Given the description of an element on the screen output the (x, y) to click on. 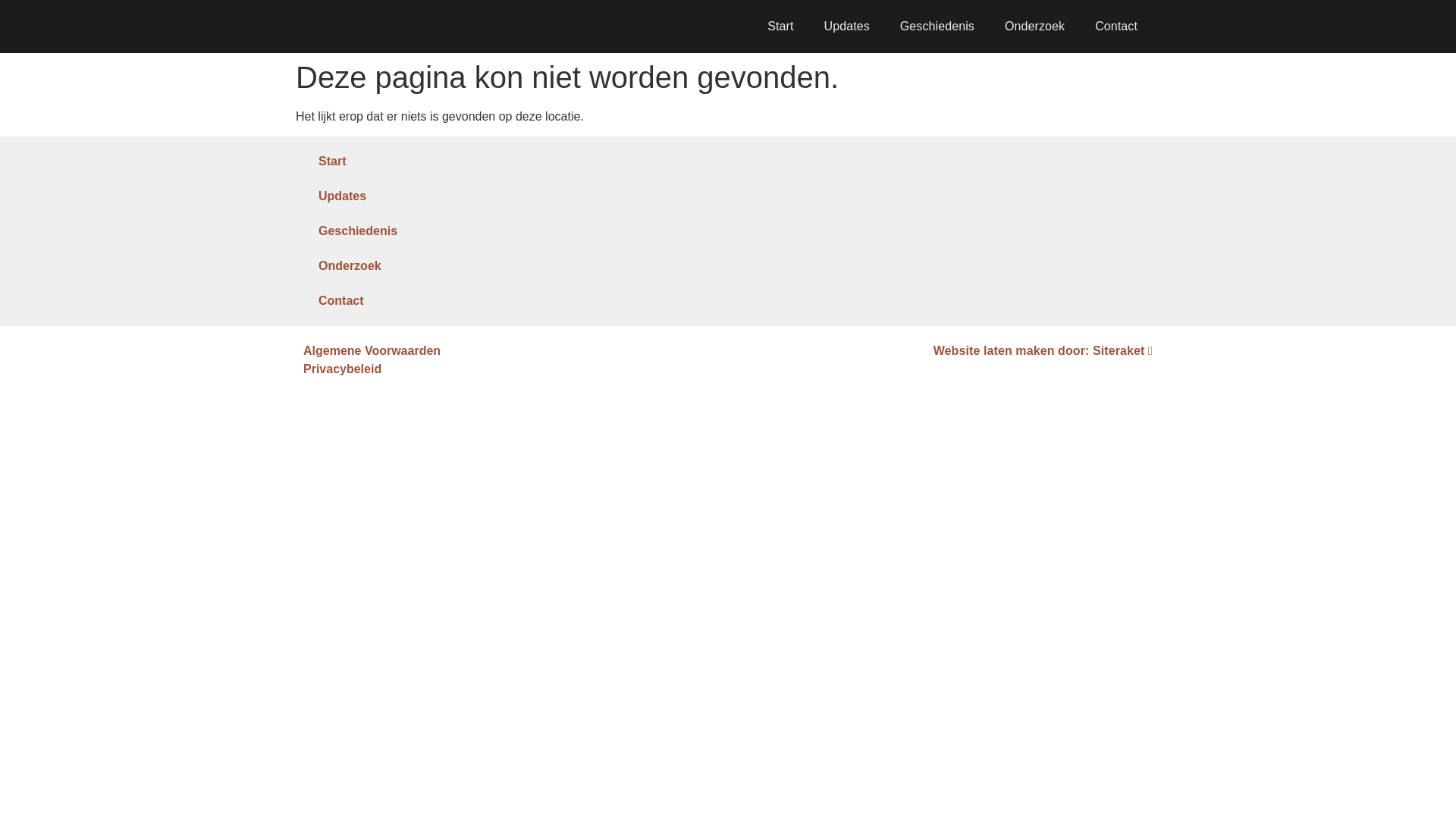
Updates (439, 196)
Start (439, 161)
Algemene Voorwaarden (511, 351)
Geschiedenis (439, 230)
Contact (439, 300)
Geschiedenis (937, 26)
Onderzoek (1035, 26)
Start (780, 26)
Contact (1116, 26)
Updates (847, 26)
